Given the description of an element on the screen output the (x, y) to click on. 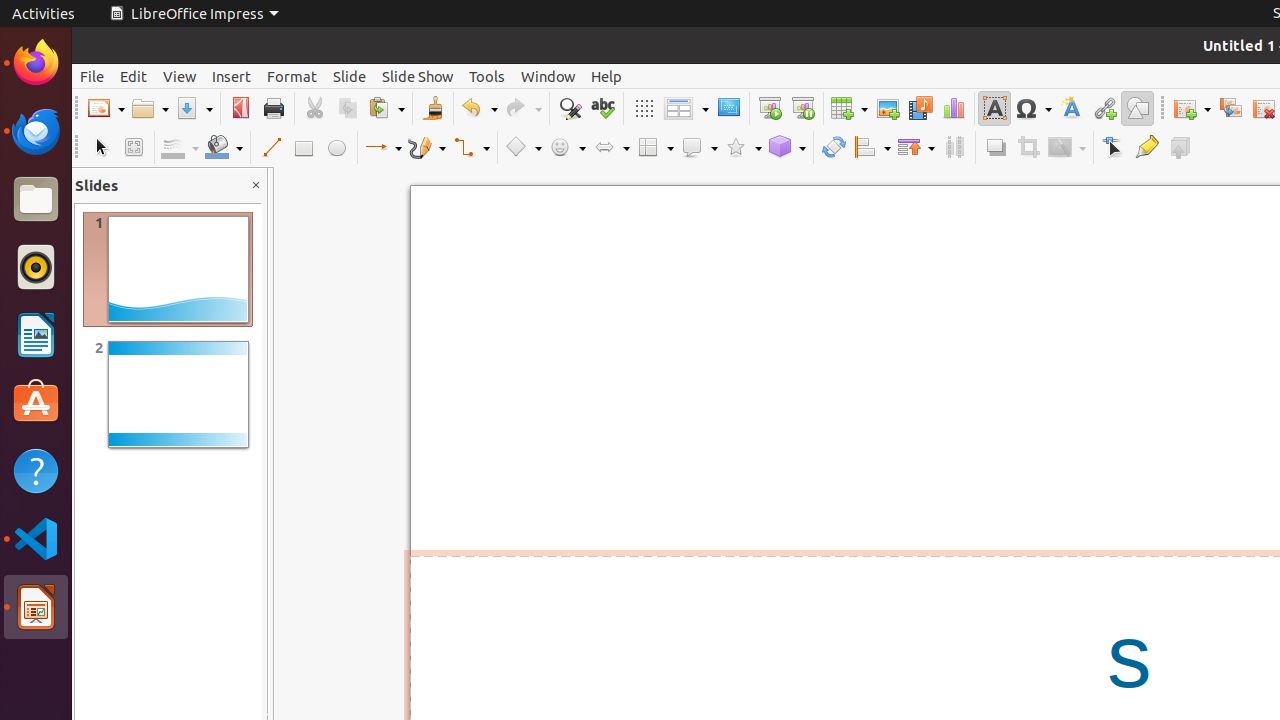
Ubuntu Software Element type: push-button (36, 402)
Format Element type: menu (292, 76)
Undo Element type: push-button (479, 108)
Rotate Element type: push-button (833, 147)
Files Element type: push-button (36, 199)
